Given the description of an element on the screen output the (x, y) to click on. 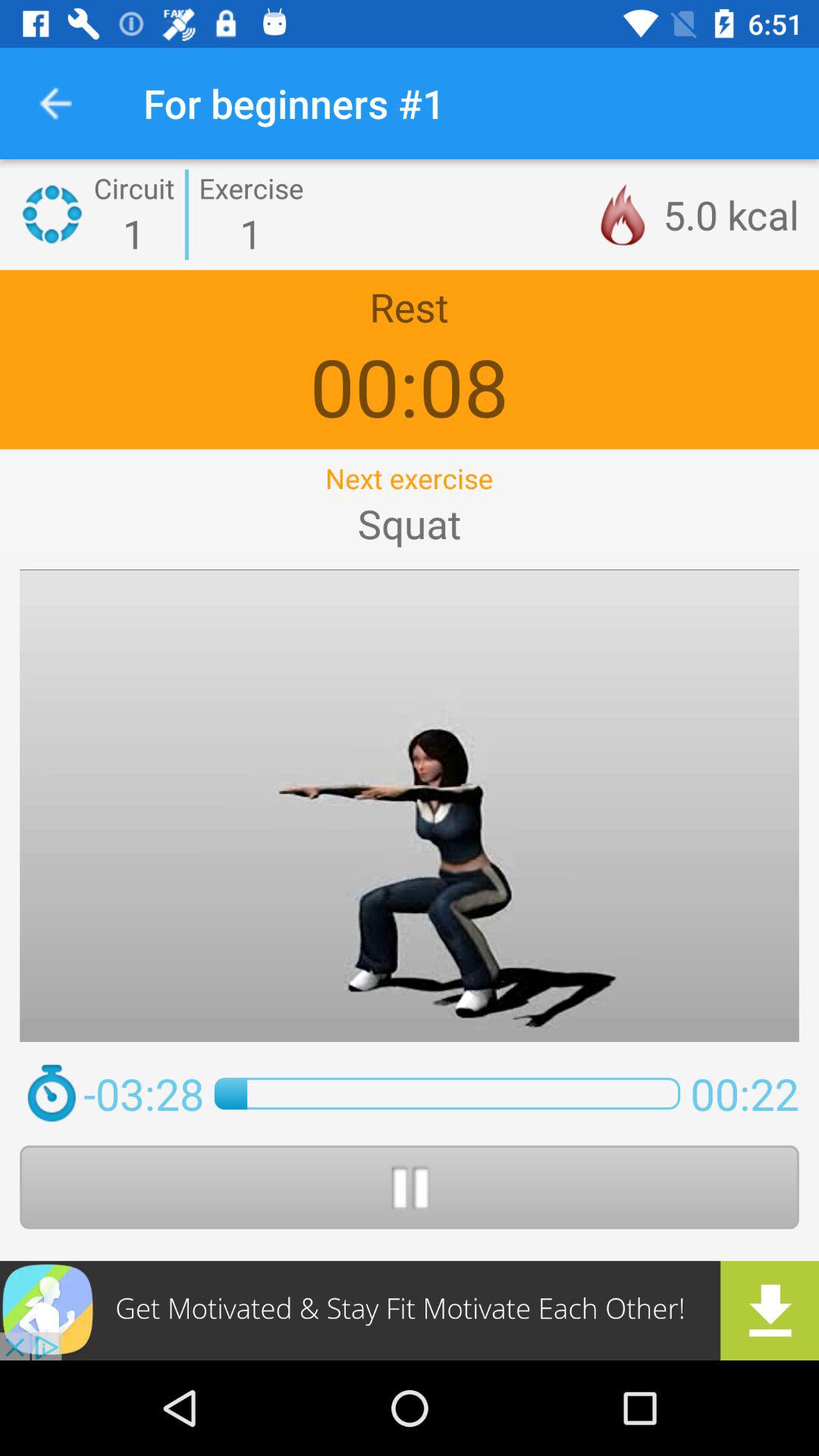
pause workout (409, 1187)
